Given the description of an element on the screen output the (x, y) to click on. 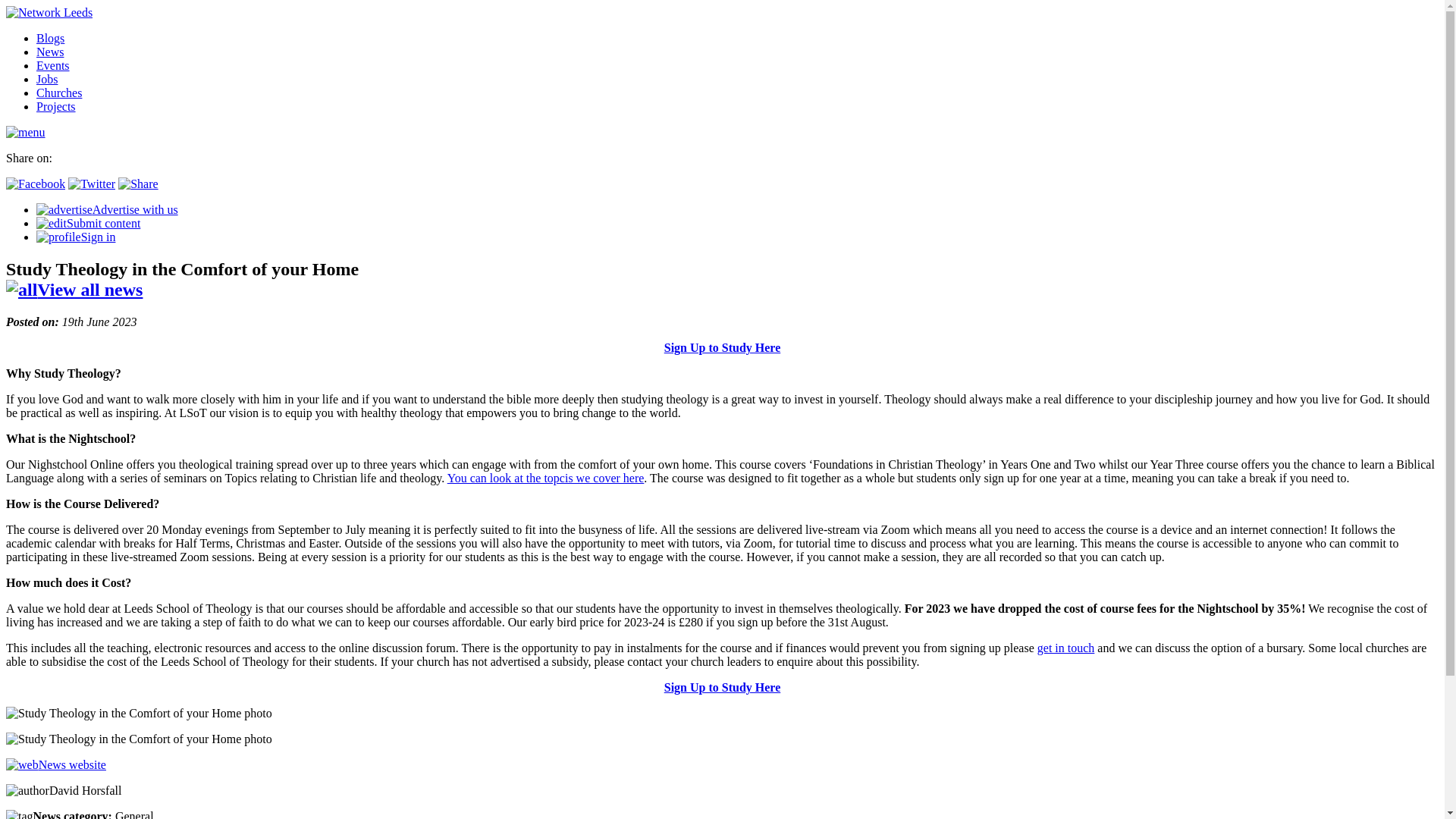
Jobs (47, 78)
Events (52, 65)
Sign Up to Study Here (721, 347)
Projects (55, 106)
get in touch (1065, 647)
Blogs (50, 38)
Sign in (75, 236)
Advertise with us (106, 209)
You can look at the topcis we cover here (545, 477)
Churches (58, 92)
Sign Up to Study Here (721, 686)
View all news (73, 289)
News (50, 51)
Submit content (87, 223)
News website (55, 764)
